Given the description of an element on the screen output the (x, y) to click on. 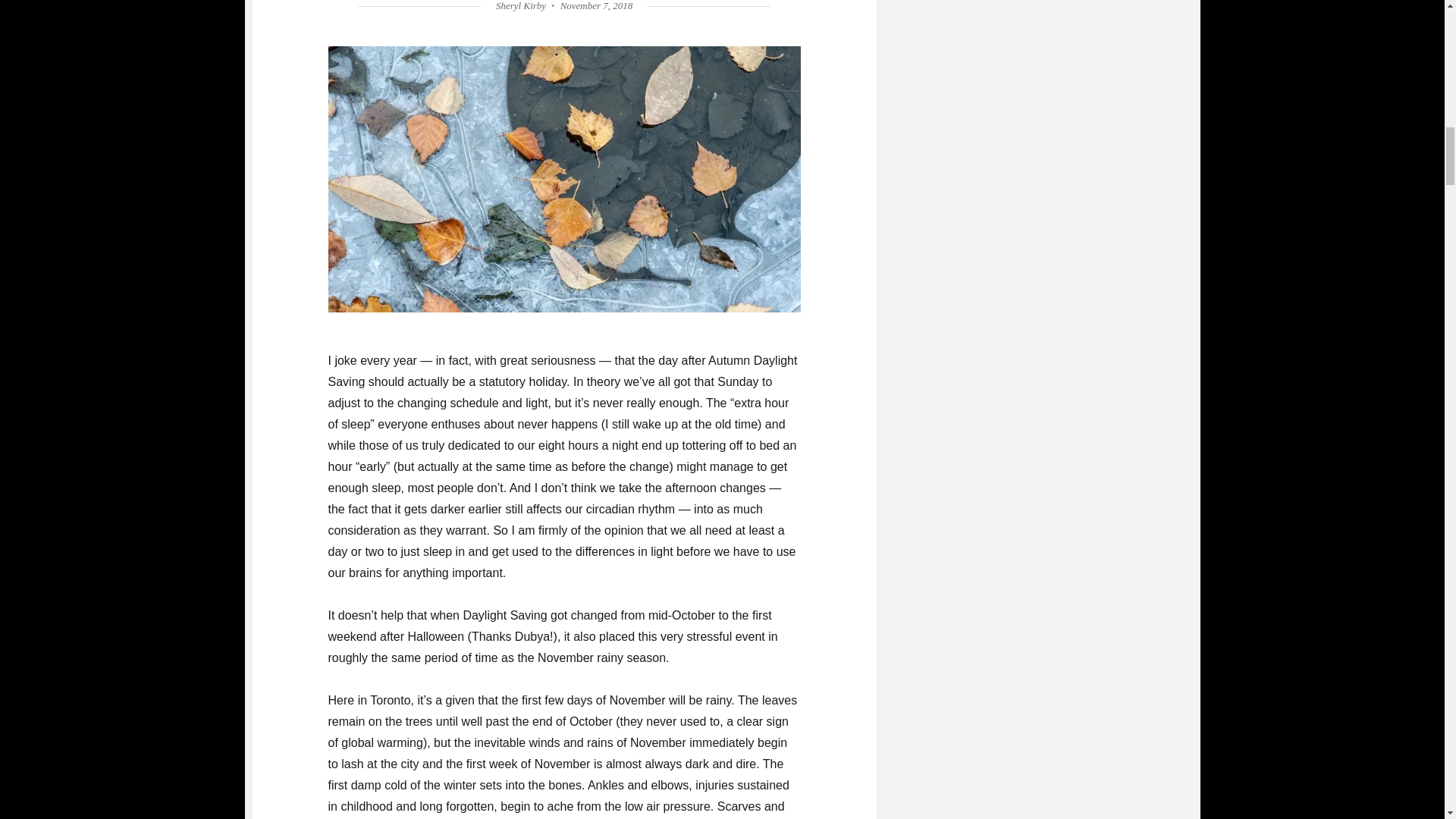
November 7, 2018 (596, 5)
Sheryl Kirby (521, 5)
